Given the description of an element on the screen output the (x, y) to click on. 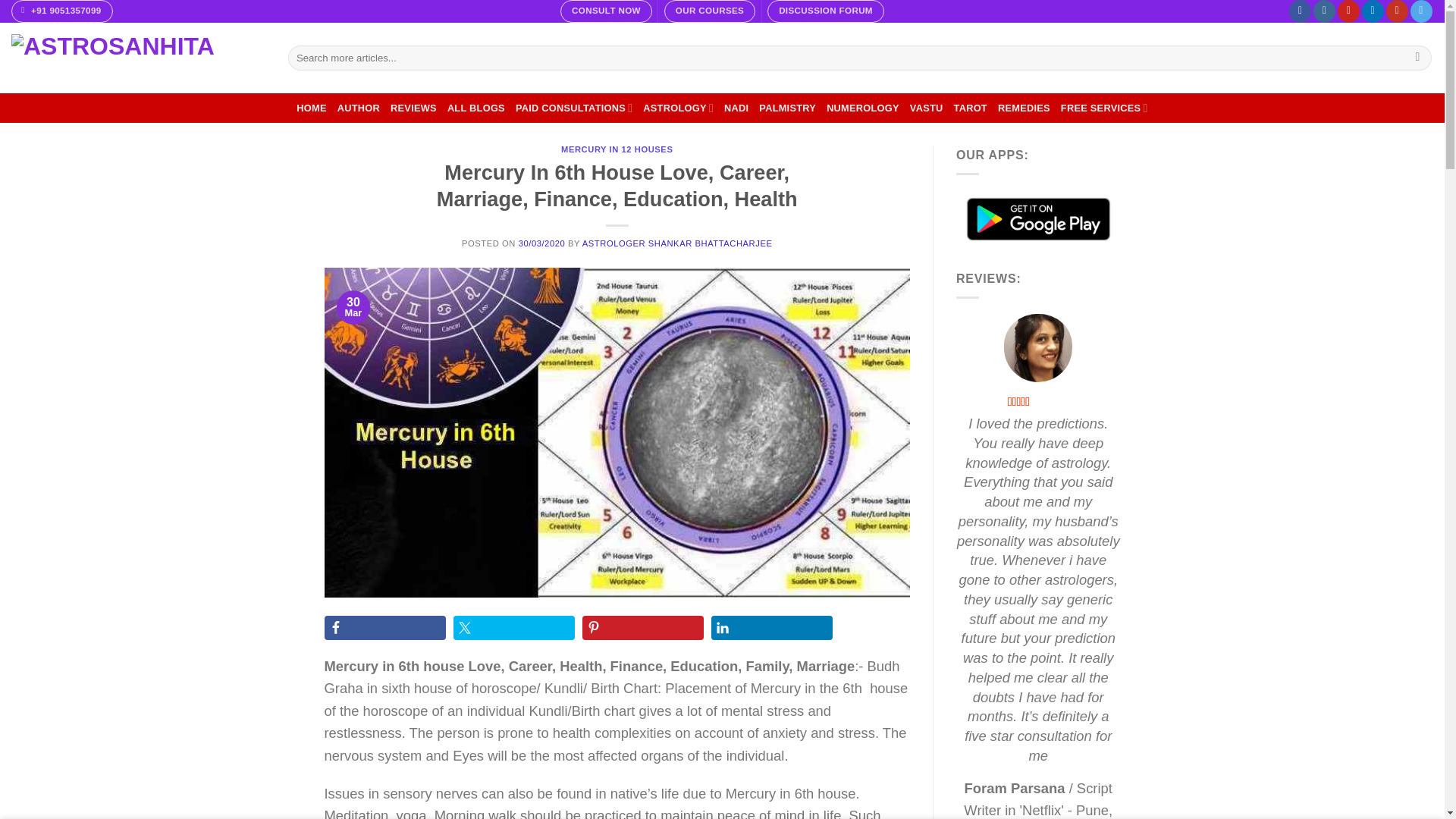
Enroll Now (709, 11)
Share on Pinterest (642, 627)
Share on Twitter (513, 627)
Share on LinkedIn (771, 627)
DISCUSSION FORUM (825, 11)
Follow on LinkedIn (1372, 11)
Share on Facebook (384, 627)
Follow on Instagram (1324, 11)
CONSULT NOW (606, 11)
Book Now (606, 11)
HOME (311, 108)
REVIEWS (413, 108)
Follow on YouTube (1396, 11)
AUTHOR (358, 108)
